Given the description of an element on the screen output the (x, y) to click on. 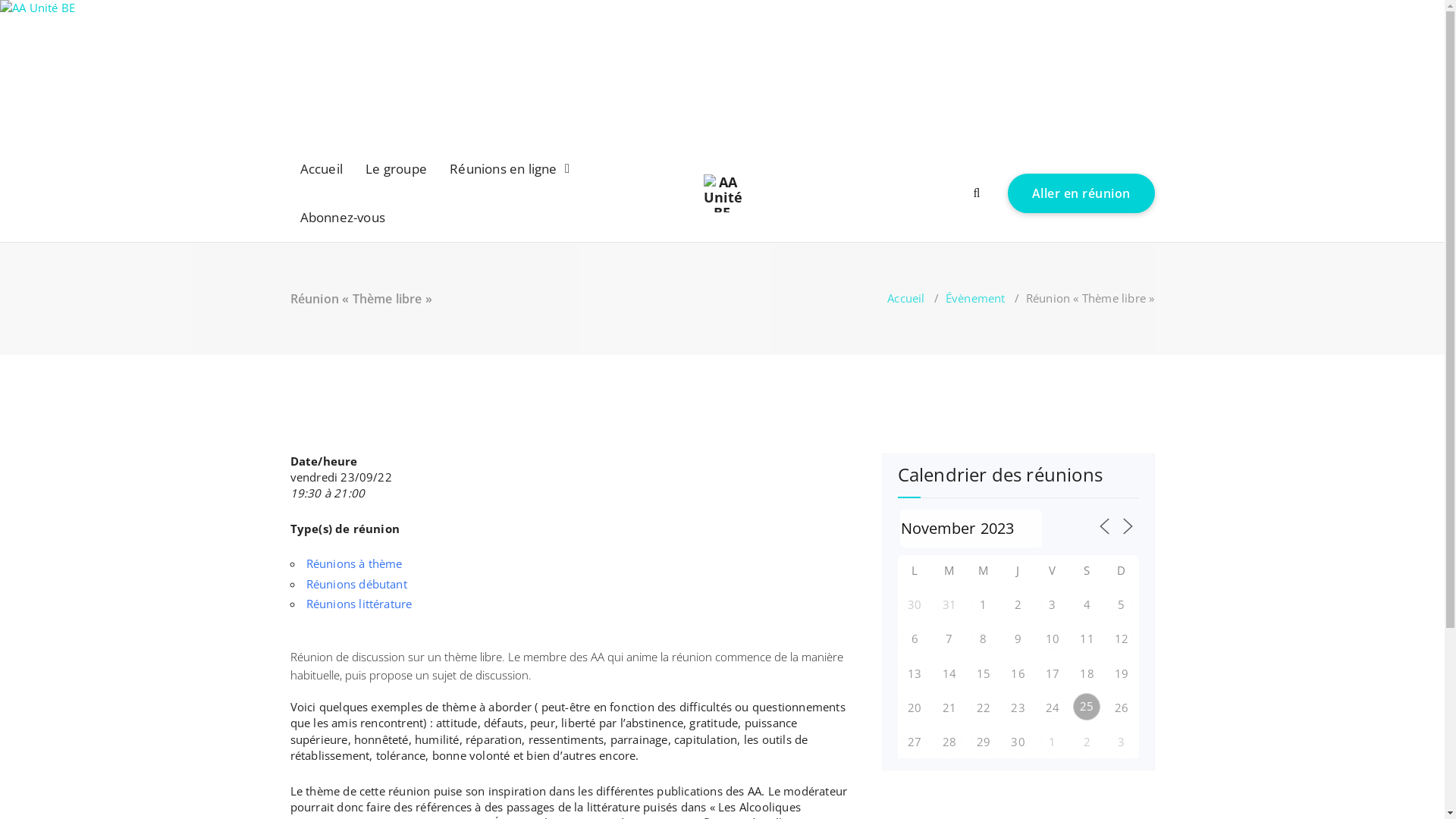
27 Element type: text (914, 740)
19 Element type: text (1121, 672)
8 Element type: text (983, 637)
24 Element type: text (1052, 706)
18 Element type: text (1086, 671)
3 Element type: text (1121, 740)
30 Element type: text (1017, 740)
29 Element type: text (983, 740)
Abonnez-vous Element type: text (342, 216)
14 Element type: text (949, 671)
30 Element type: text (914, 603)
22 Element type: text (983, 706)
4 Element type: text (1086, 603)
2 Element type: text (1017, 603)
7 Element type: text (949, 637)
21 Element type: text (949, 706)
9 Element type: text (1017, 637)
25 Element type: text (1086, 706)
10 Element type: text (1052, 637)
12 Element type: text (1121, 637)
17 Element type: text (1052, 672)
5 Element type: text (1121, 603)
11 Element type: text (1086, 637)
1 Element type: text (1052, 740)
16 Element type: text (1017, 671)
Accueil Element type: text (321, 168)
3 Element type: text (1052, 603)
20 Element type: text (914, 706)
23 Element type: text (1017, 706)
6 Element type: text (914, 637)
31 Element type: text (949, 603)
Le groupe Element type: text (395, 168)
Accueil Element type: text (905, 296)
15 Element type: text (983, 672)
26 Element type: text (1121, 706)
13 Element type: text (914, 671)
1 Element type: text (983, 603)
28 Element type: text (949, 740)
2 Element type: text (1086, 740)
